Given the description of an element on the screen output the (x, y) to click on. 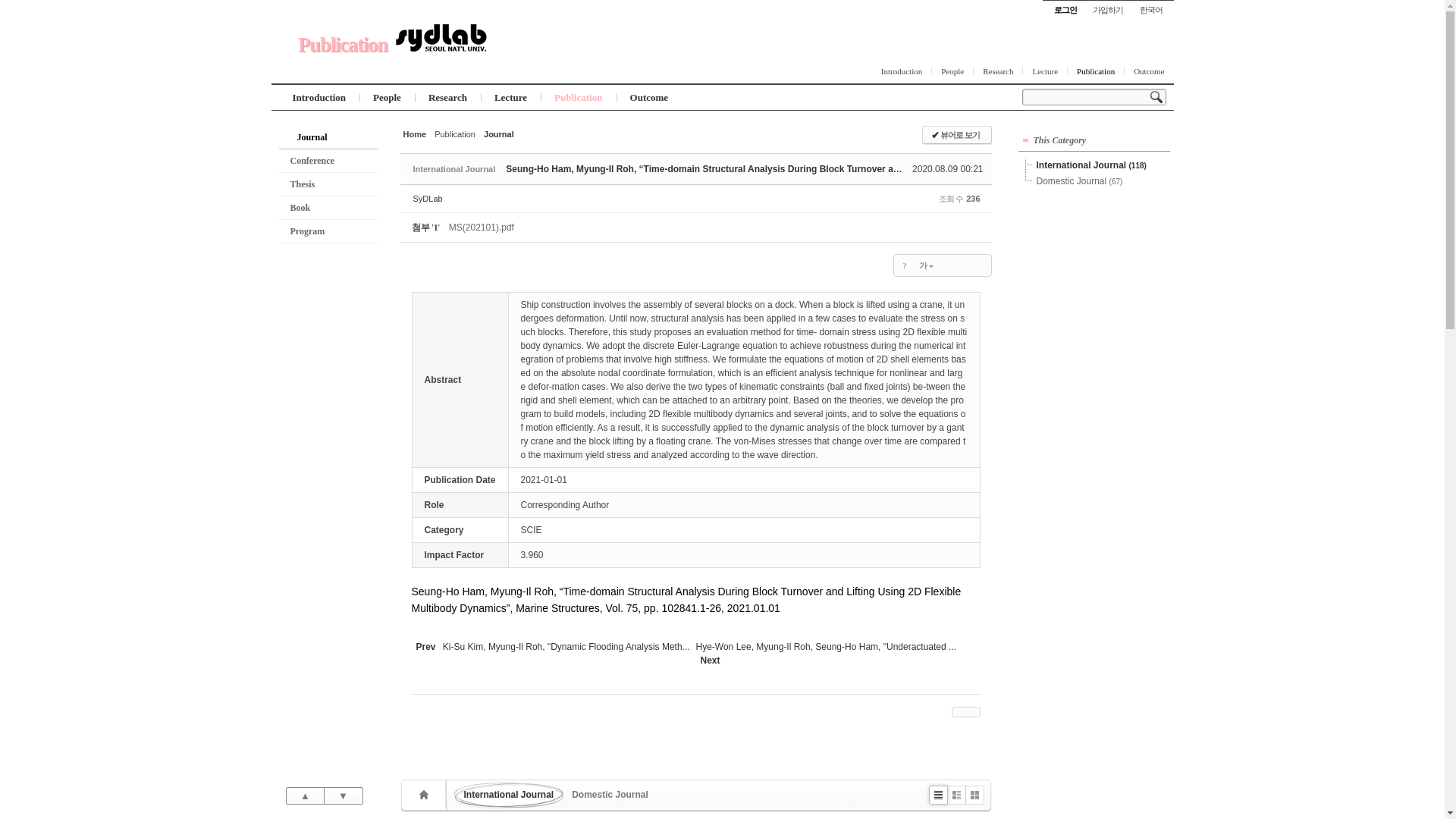
Research (998, 71)
Category (453, 169)
Lecture (1045, 71)
Research (447, 97)
Introduction (319, 97)
People (951, 71)
Outcome (1148, 71)
Publication (342, 44)
Publication (1095, 71)
People (386, 97)
Introduction (901, 71)
